Given the description of an element on the screen output the (x, y) to click on. 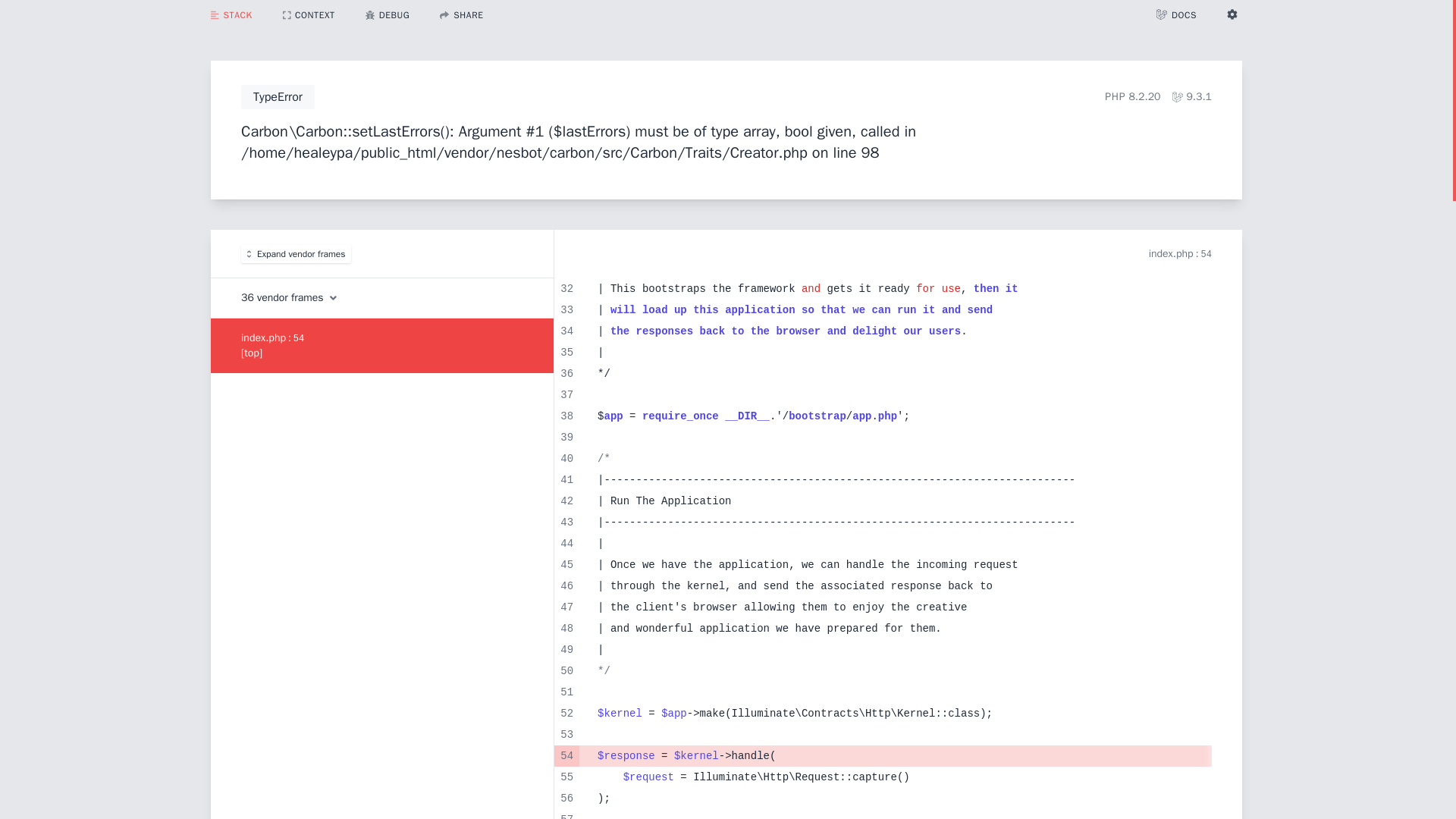
SHARE (461, 14)
Expand vendor frames (295, 253)
SHARE (461, 15)
DEBUG (387, 14)
DOCS (1176, 14)
STACK (231, 15)
DEBUG (387, 15)
CONTEXT (308, 14)
STACK (231, 14)
DOCS (1176, 15)
CONTEXT (308, 15)
